Given the description of an element on the screen output the (x, y) to click on. 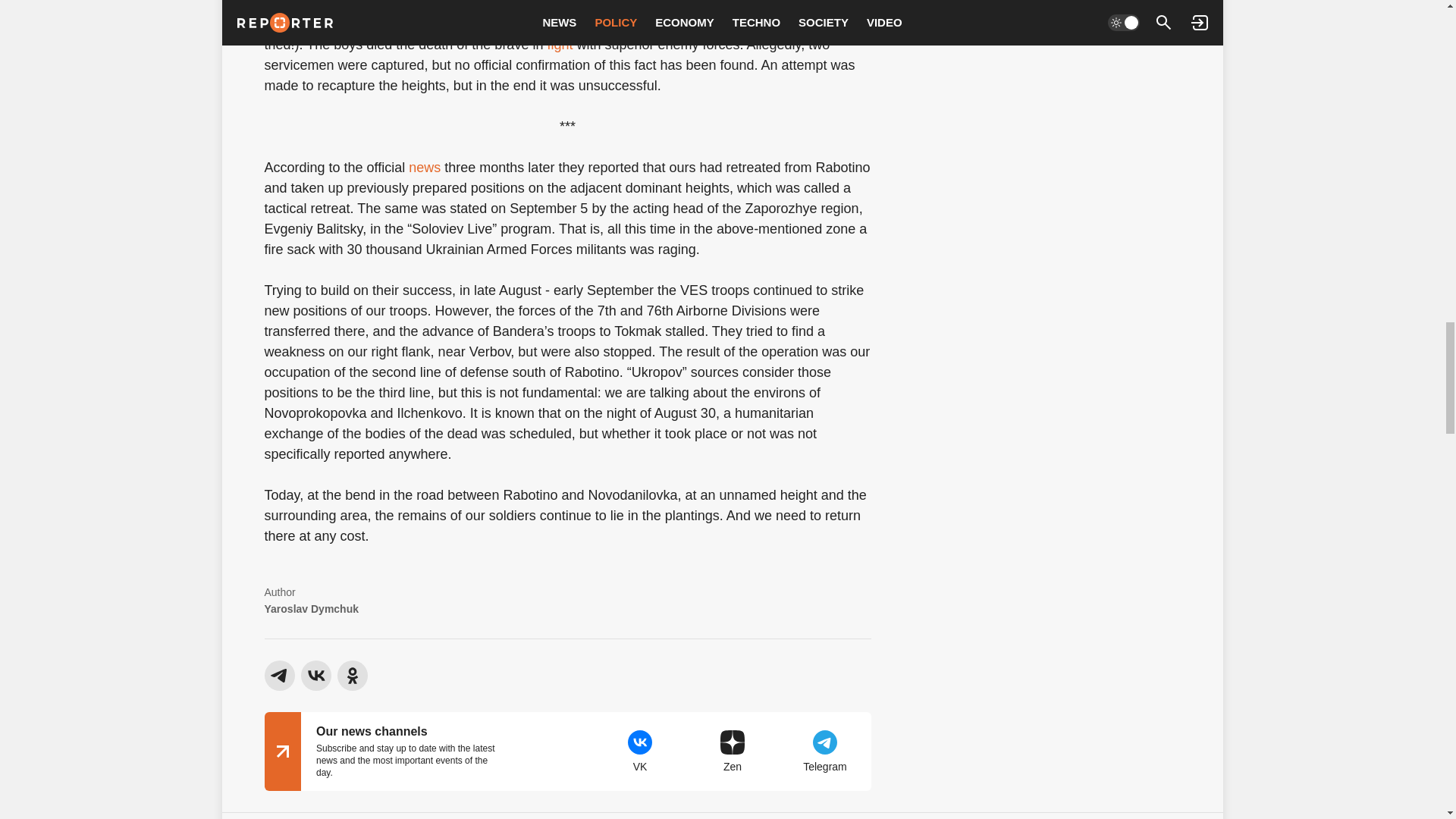
news (425, 167)
fight (561, 44)
Yaroslav Dymchuk (310, 608)
